Given the description of an element on the screen output the (x, y) to click on. 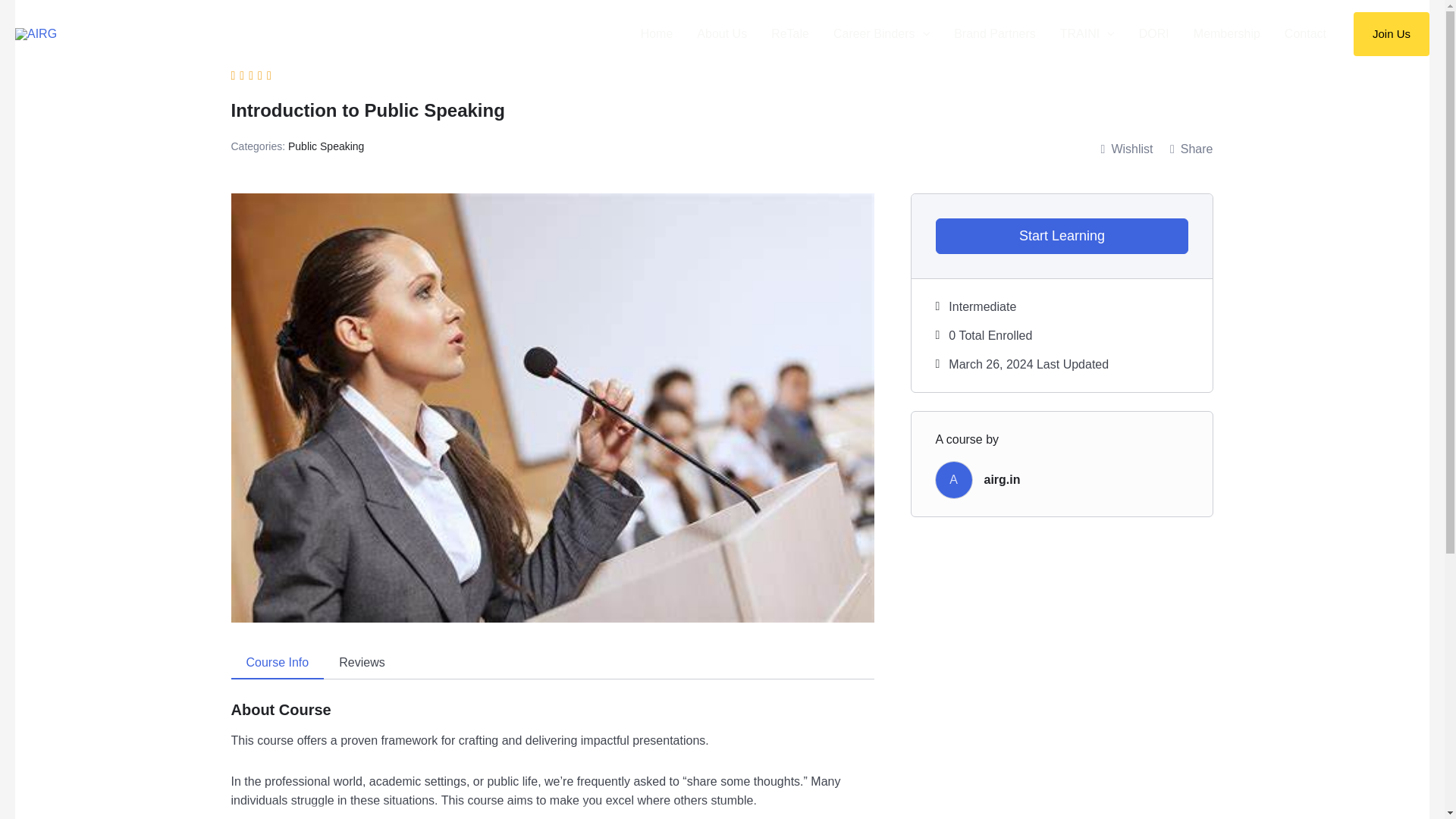
Membership (1226, 33)
DORI (1153, 33)
Career Binders (881, 33)
Public Speaking (326, 146)
Contact (1305, 33)
Join Us (1391, 34)
Home (656, 33)
ReTale (789, 33)
Brand Partners (995, 33)
Wishlist (1127, 149)
